Given the description of an element on the screen output the (x, y) to click on. 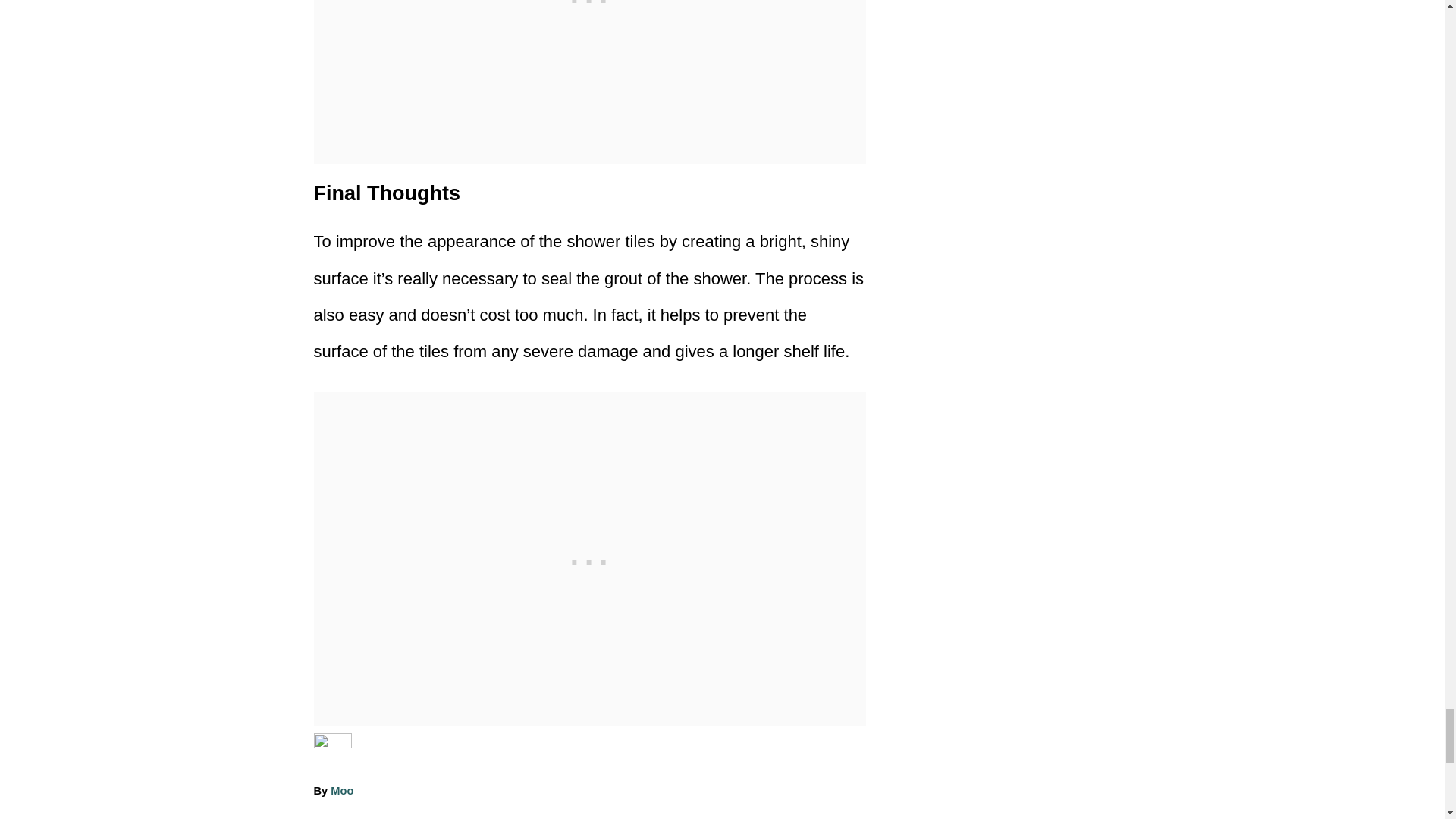
Moo (341, 790)
